Given the description of an element on the screen output the (x, y) to click on. 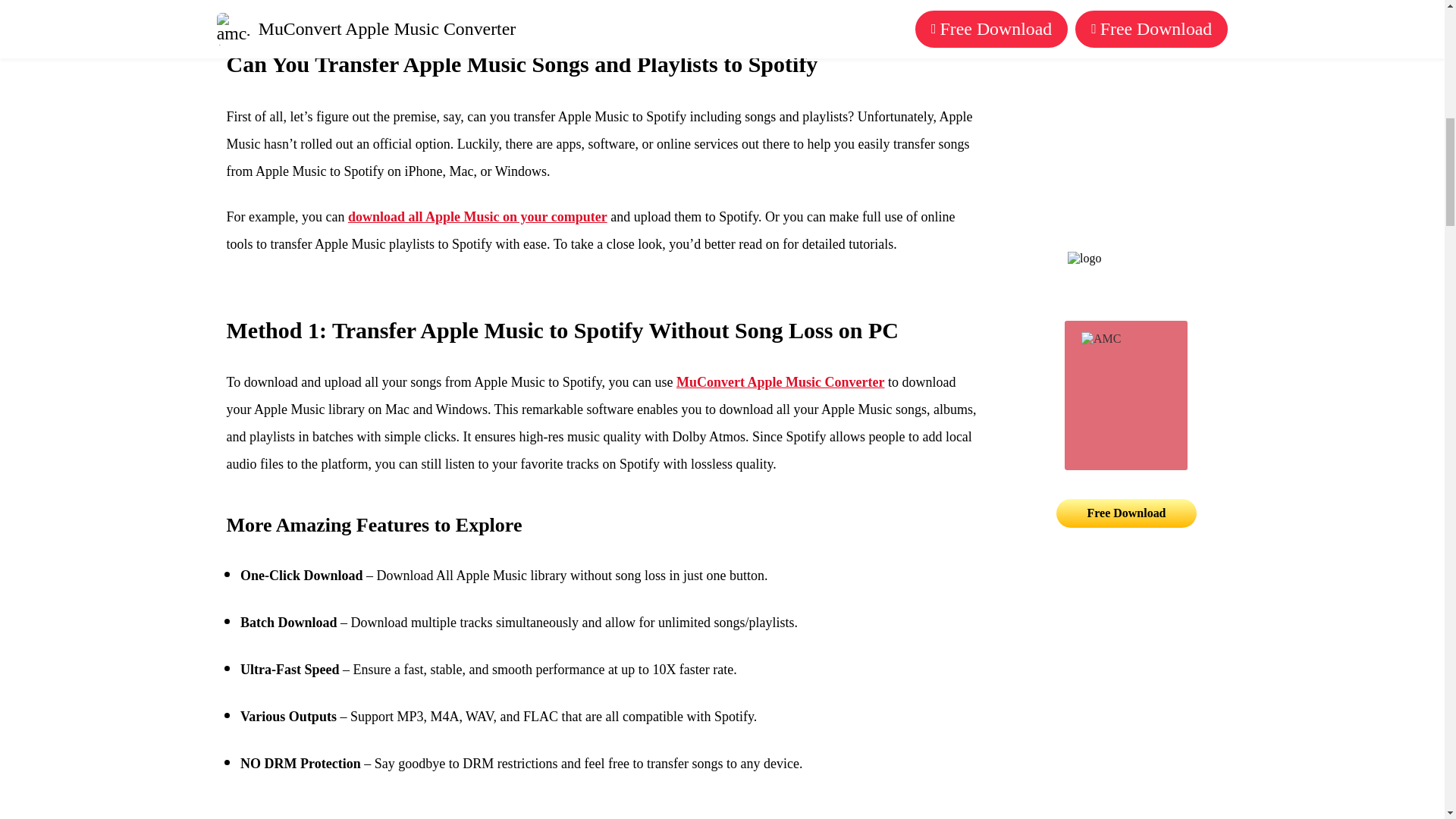
download all Apple Music on your computer (477, 216)
MuConvert Apple Music Converter (780, 381)
